Given the description of an element on the screen output the (x, y) to click on. 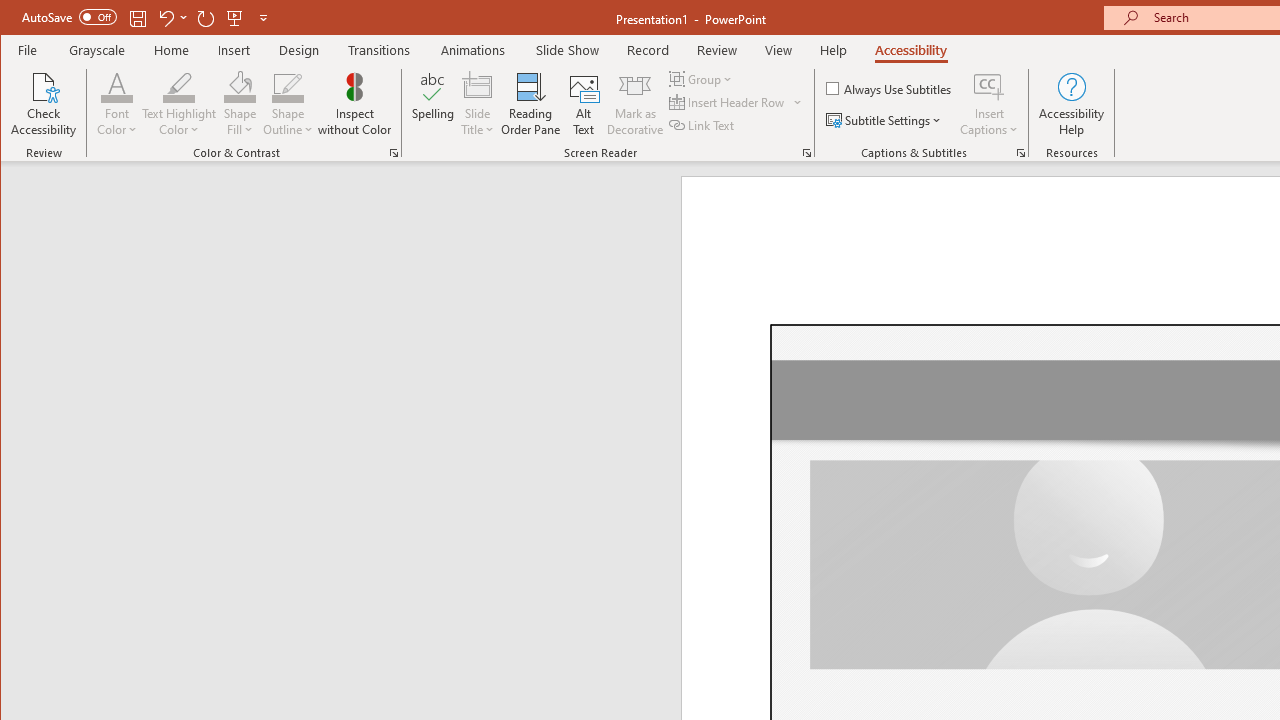
Insert Header Row (735, 101)
Group (701, 78)
Link Text (703, 124)
Screen Reader (806, 152)
Insert Captions (989, 104)
Captions & Subtitles (1020, 152)
Reading Order Pane (531, 104)
